Given the description of an element on the screen output the (x, y) to click on. 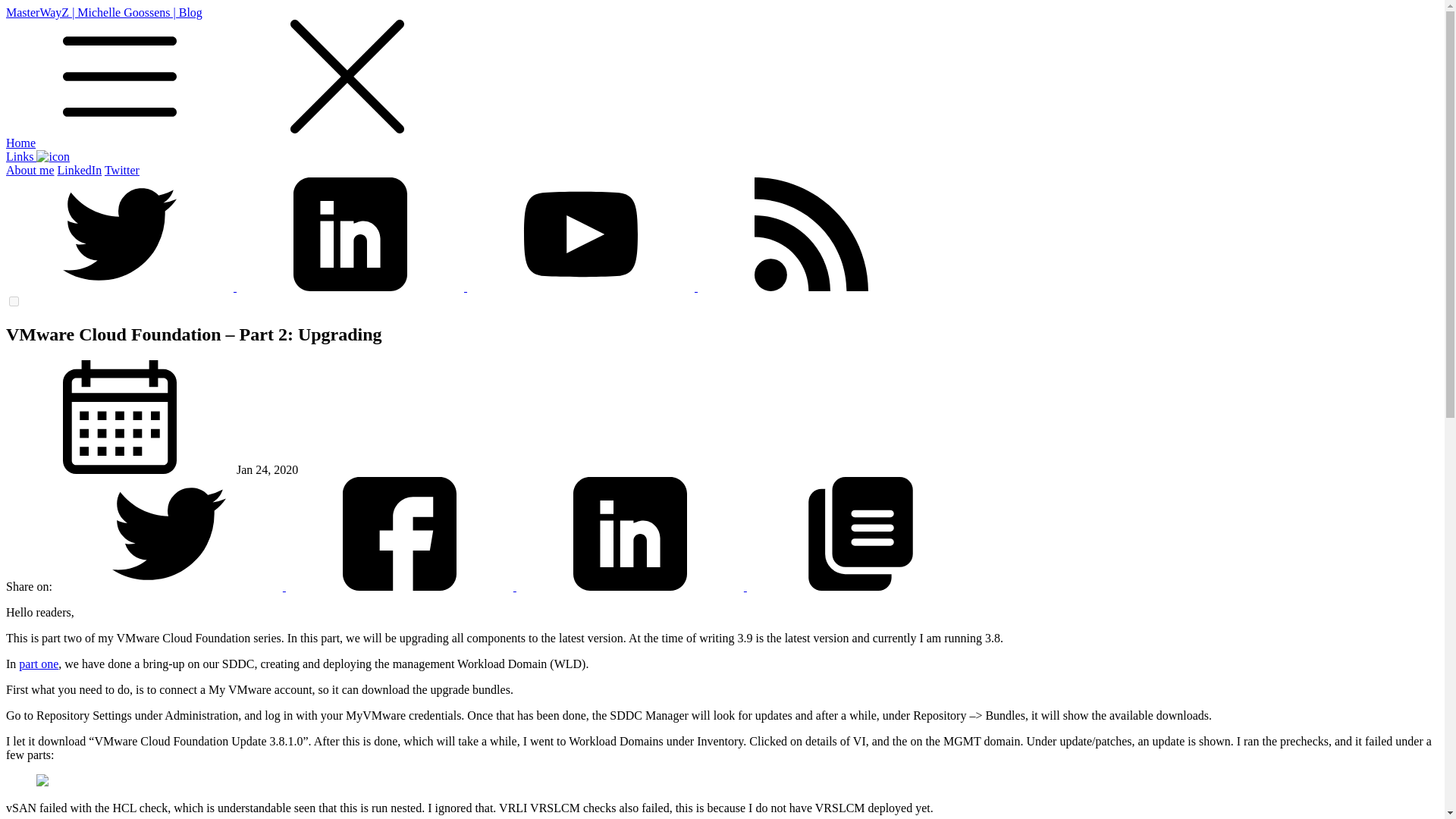
on (13, 301)
Links (37, 155)
About me (30, 169)
Share on LinkedIn (631, 585)
Share on Facebook (400, 585)
Twitter (121, 169)
Twitter (121, 169)
About me (30, 169)
LinkedIn (79, 169)
Home (19, 142)
